Given the description of an element on the screen output the (x, y) to click on. 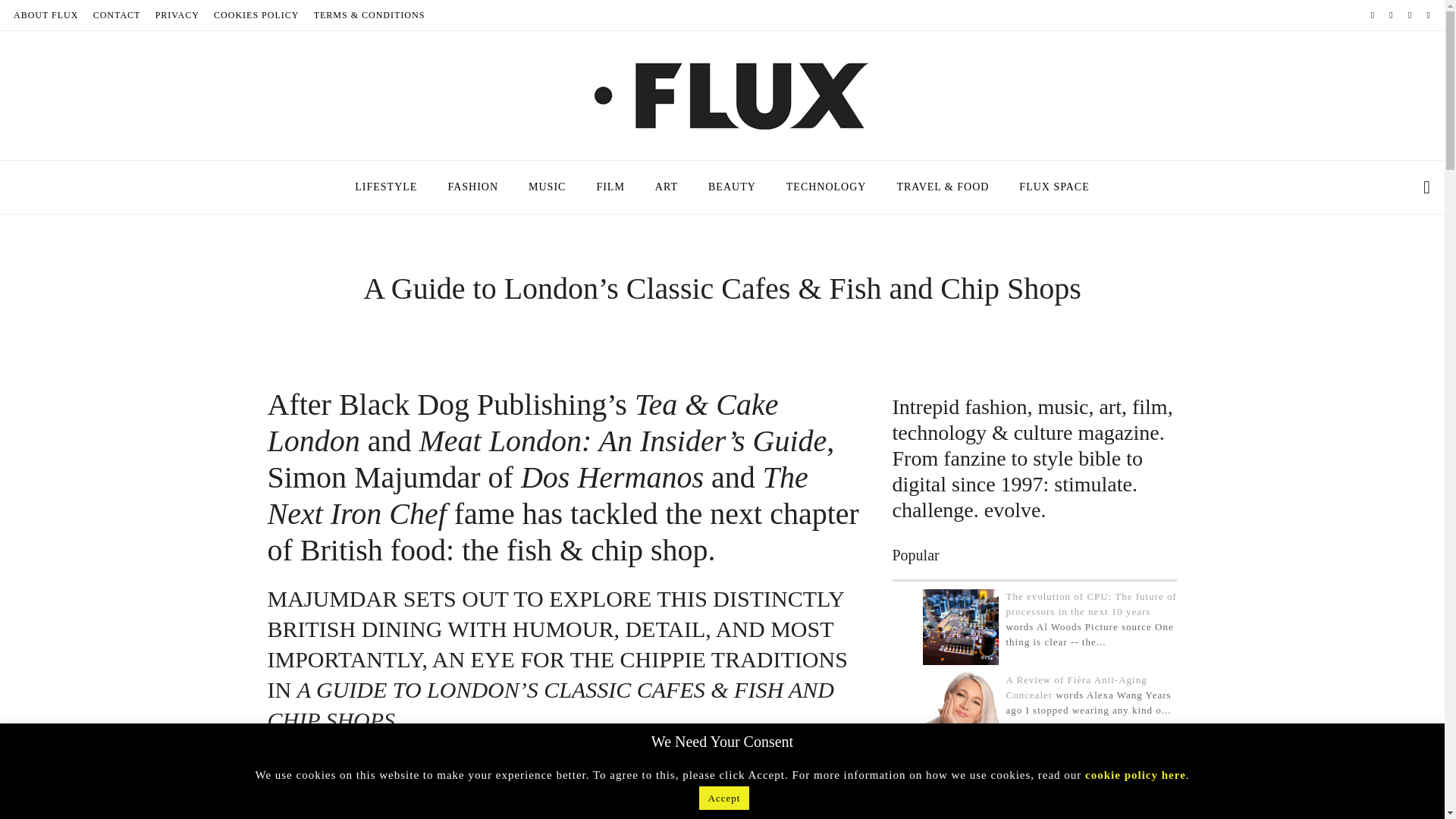
LIFESTYLE (385, 186)
CONTACT (117, 15)
BEAUTY (732, 186)
MUSIC (546, 186)
COOKIES POLICY (256, 15)
ABOUT FLUX (45, 15)
TECHNOLOGY (826, 186)
FILM (609, 186)
ART (666, 186)
PRIVACY (177, 15)
FASHION (472, 186)
